Given the description of an element on the screen output the (x, y) to click on. 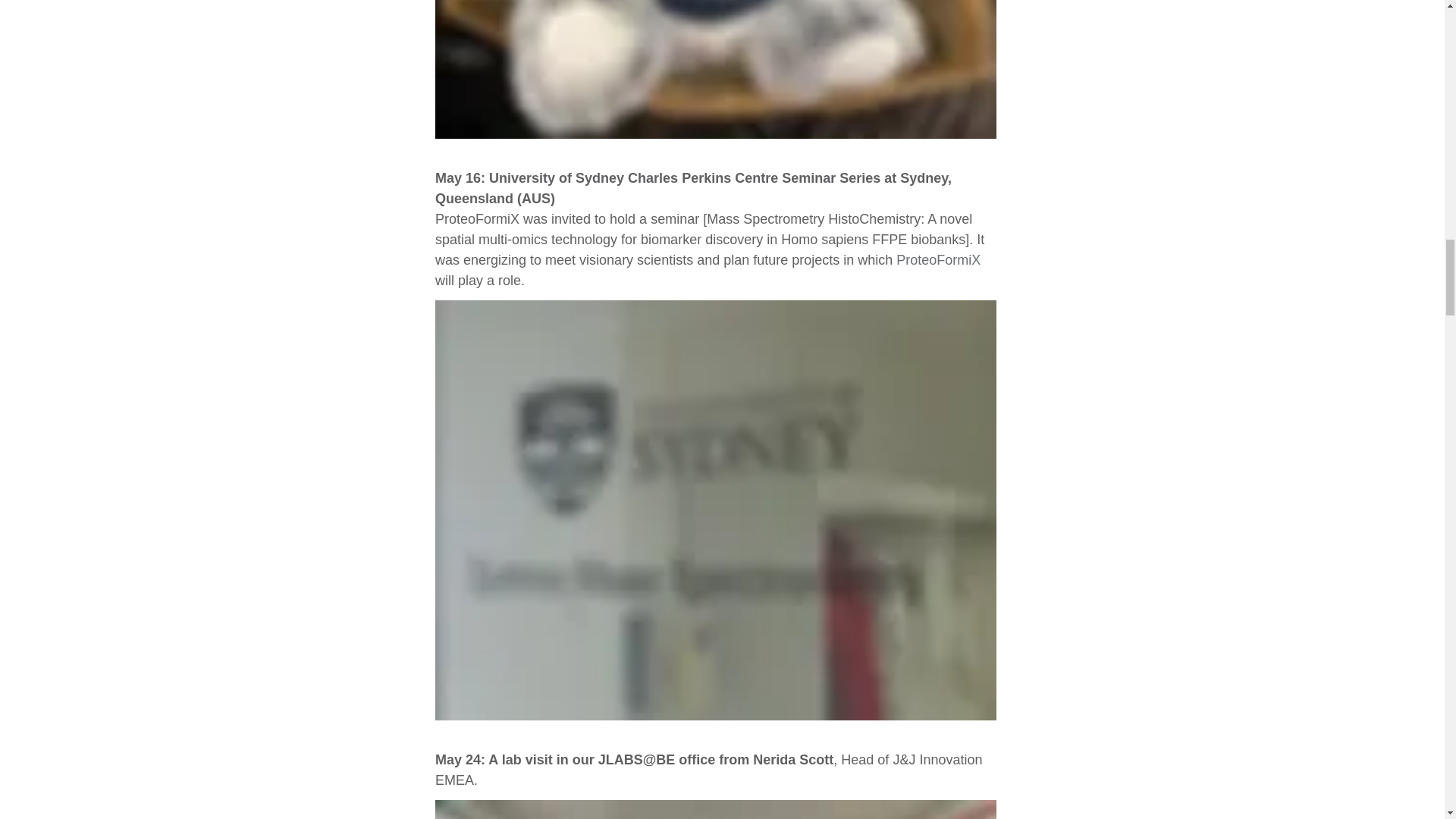
ProteoFormiX (937, 258)
